Given the description of an element on the screen output the (x, y) to click on. 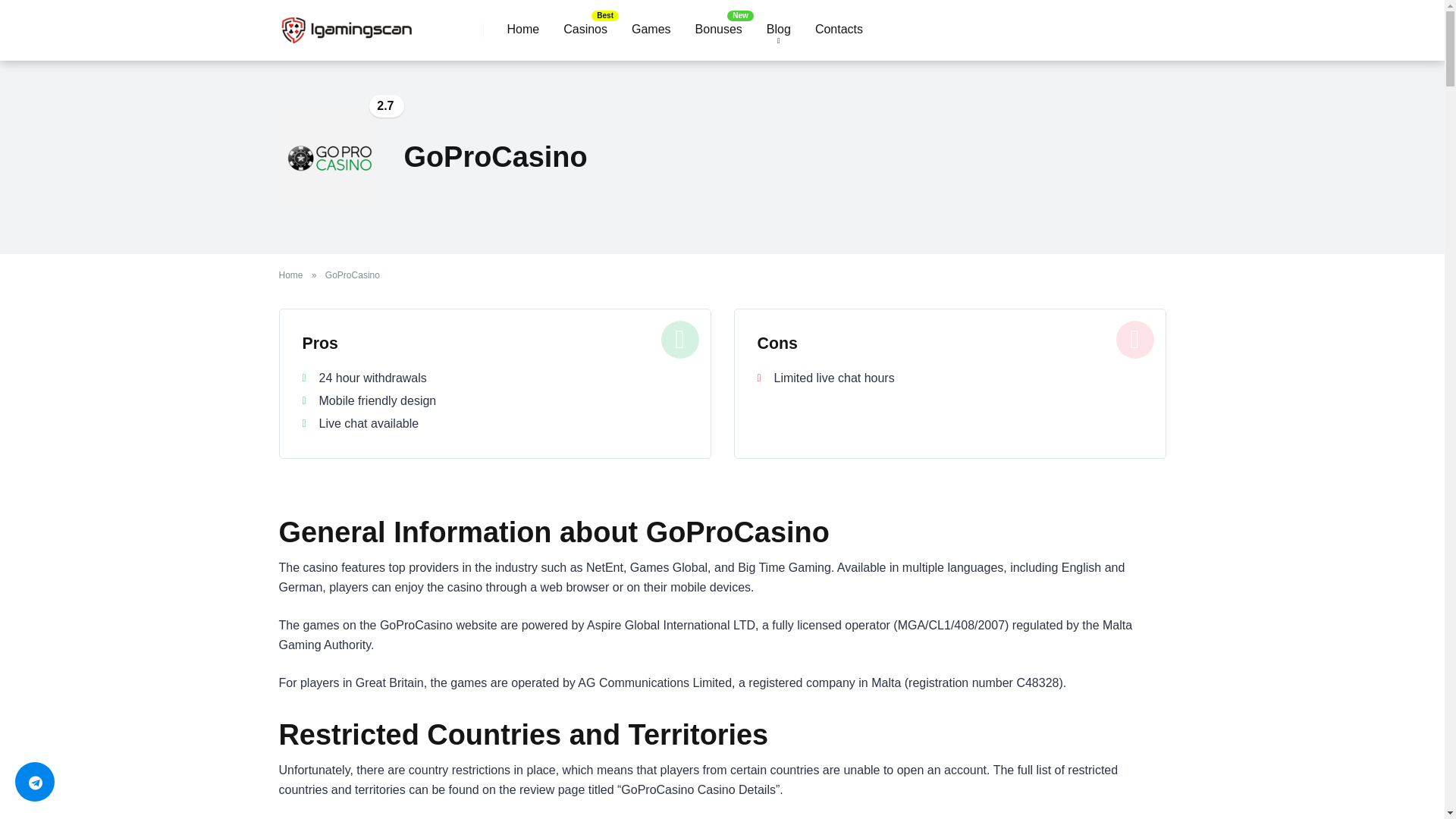
Contacts (839, 30)
Home (523, 30)
Bonuses (718, 30)
Igamingscan (346, 24)
Casinos (585, 30)
Home (293, 275)
Games (651, 30)
